Given the description of an element on the screen output the (x, y) to click on. 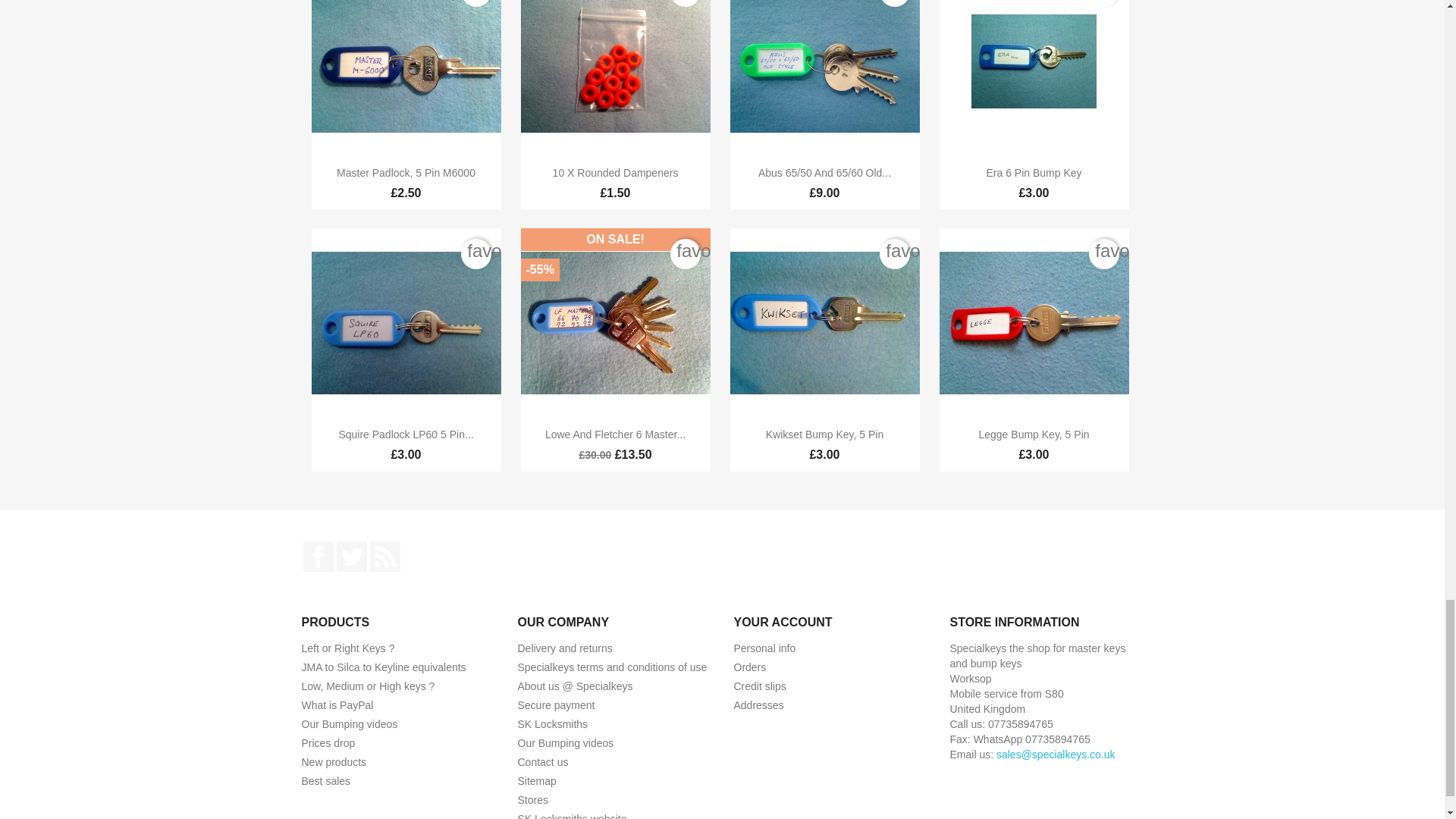
Our new products (333, 761)
Our best sales (325, 780)
Our special products (328, 743)
Buy securely with PayPal, all your details are protected. (337, 705)
JMA to Silca to Keyline key blanks (383, 666)
key profiles and how to tell them apart (347, 648)
Our terms and conditions of delivery (563, 648)
How to understand bump keys and their heights (368, 686)
Our specialkeys terms and conditions of use (611, 666)
